Given the description of an element on the screen output the (x, y) to click on. 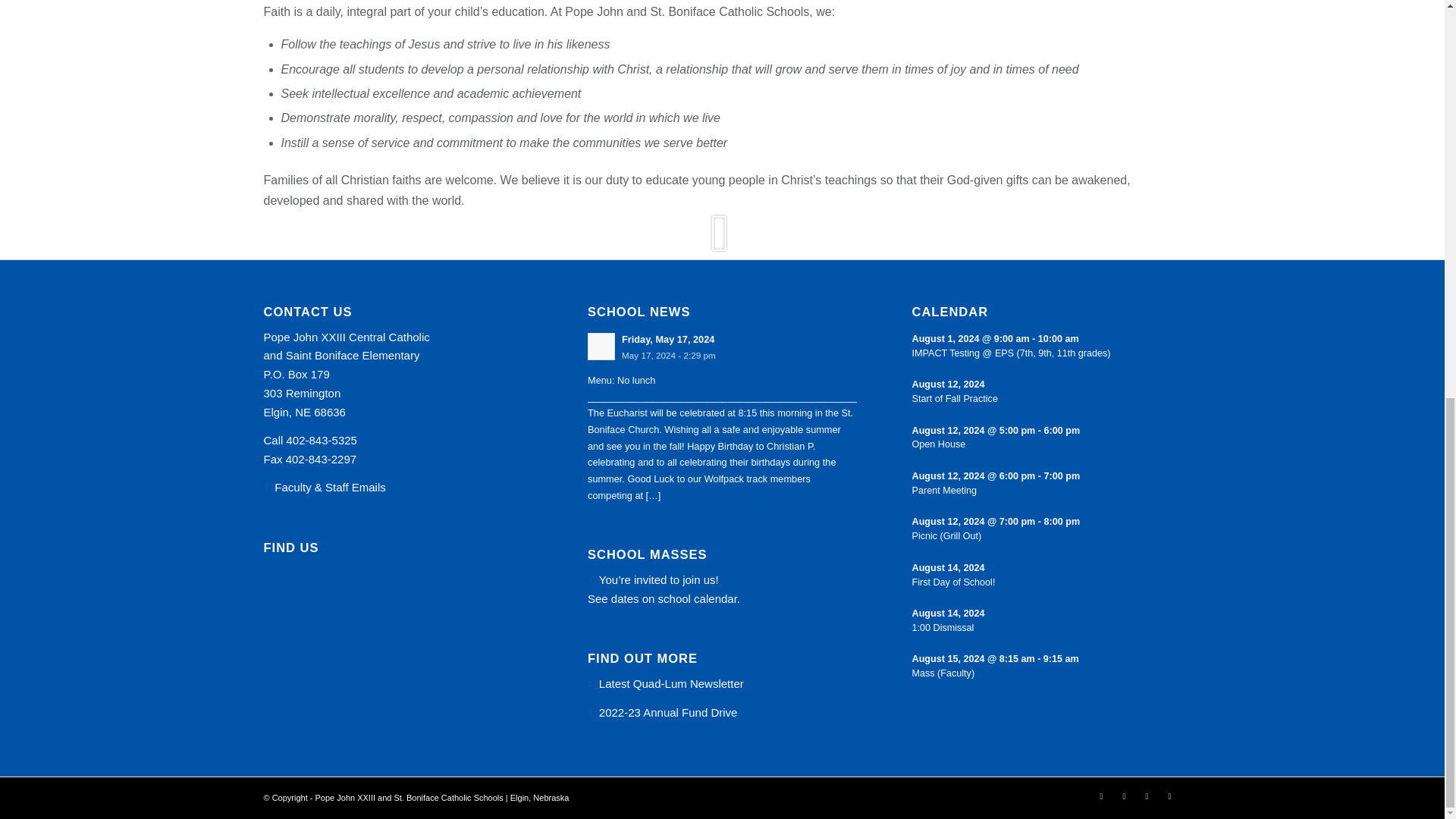
Twitter (1101, 795)
Latest Quad-Lum Newsletter (671, 683)
Friday, May 17, 2024 (667, 338)
2022-23 Annual Fund Drive (668, 712)
Read: Friday, May 17, 2024 (601, 346)
Read: Friday, May 17, 2024 (667, 338)
